Given the description of an element on the screen output the (x, y) to click on. 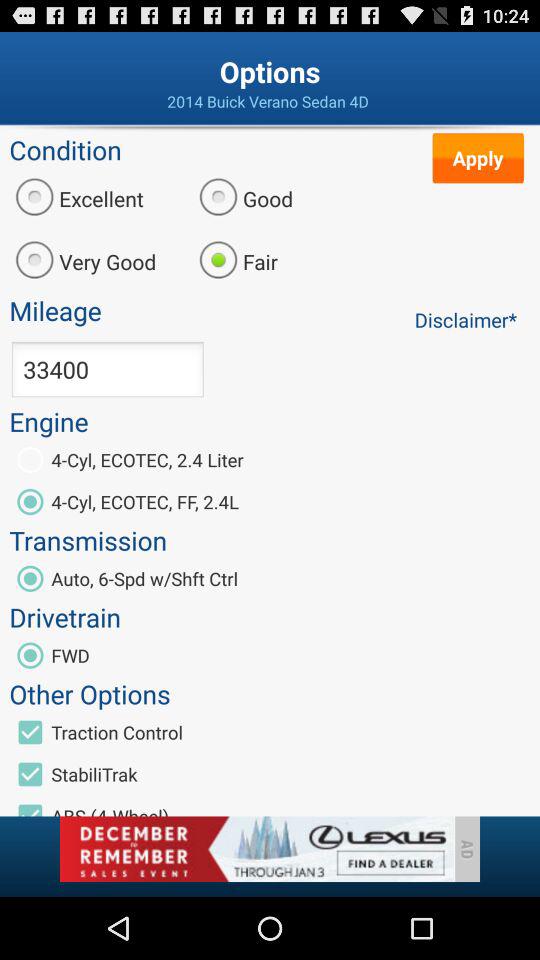
banner advertisement (256, 849)
